Given the description of an element on the screen output the (x, y) to click on. 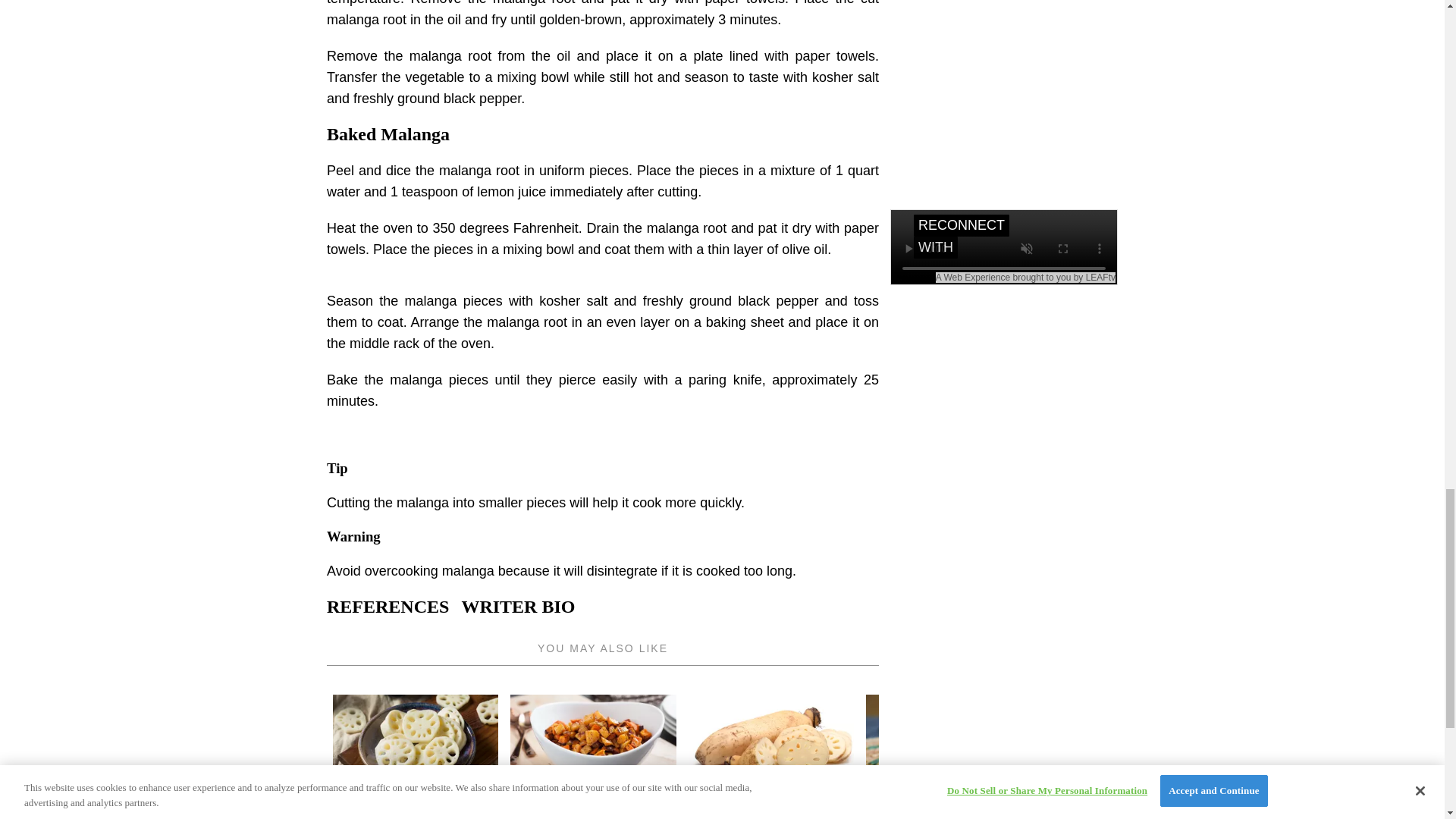
How to Eat Licorice Root (1304, 756)
How to Eat Licorice Root (1304, 803)
How to Cook Rutabagas (593, 803)
How to Cook Rutabagas (593, 756)
How to Make Dandelion Root Tea (948, 756)
How to Cook Frozen Lotus Root (415, 807)
How to Freeze Celeriac (1126, 803)
How to Tell When Lotus Root Has Gone Bad (770, 756)
How to Cook Frozen Lotus Root (415, 756)
How to Freeze Celeriac (1126, 756)
How to Make Dandelion Root Tea (948, 807)
How to Tell When Lotus Root Has Gone Bad (770, 807)
